Given the description of an element on the screen output the (x, y) to click on. 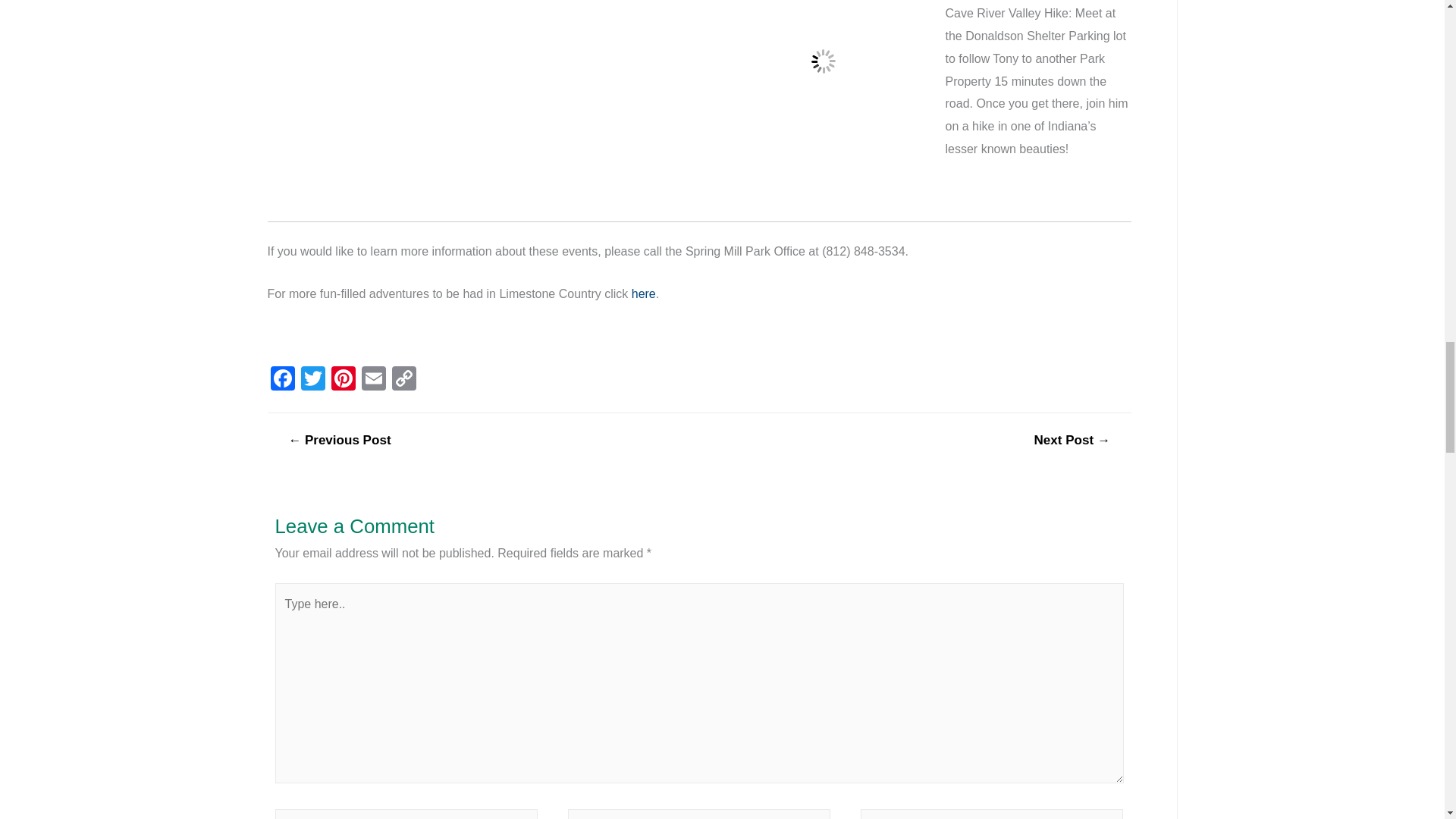
Facebook (281, 379)
here (643, 293)
Email (373, 379)
Pinterest (342, 379)
Email (373, 379)
Facebook (281, 379)
Twitter (312, 379)
Copy Link (403, 379)
Copy Link (403, 379)
Twitter (312, 379)
Pinterest (342, 379)
